Given the description of an element on the screen output the (x, y) to click on. 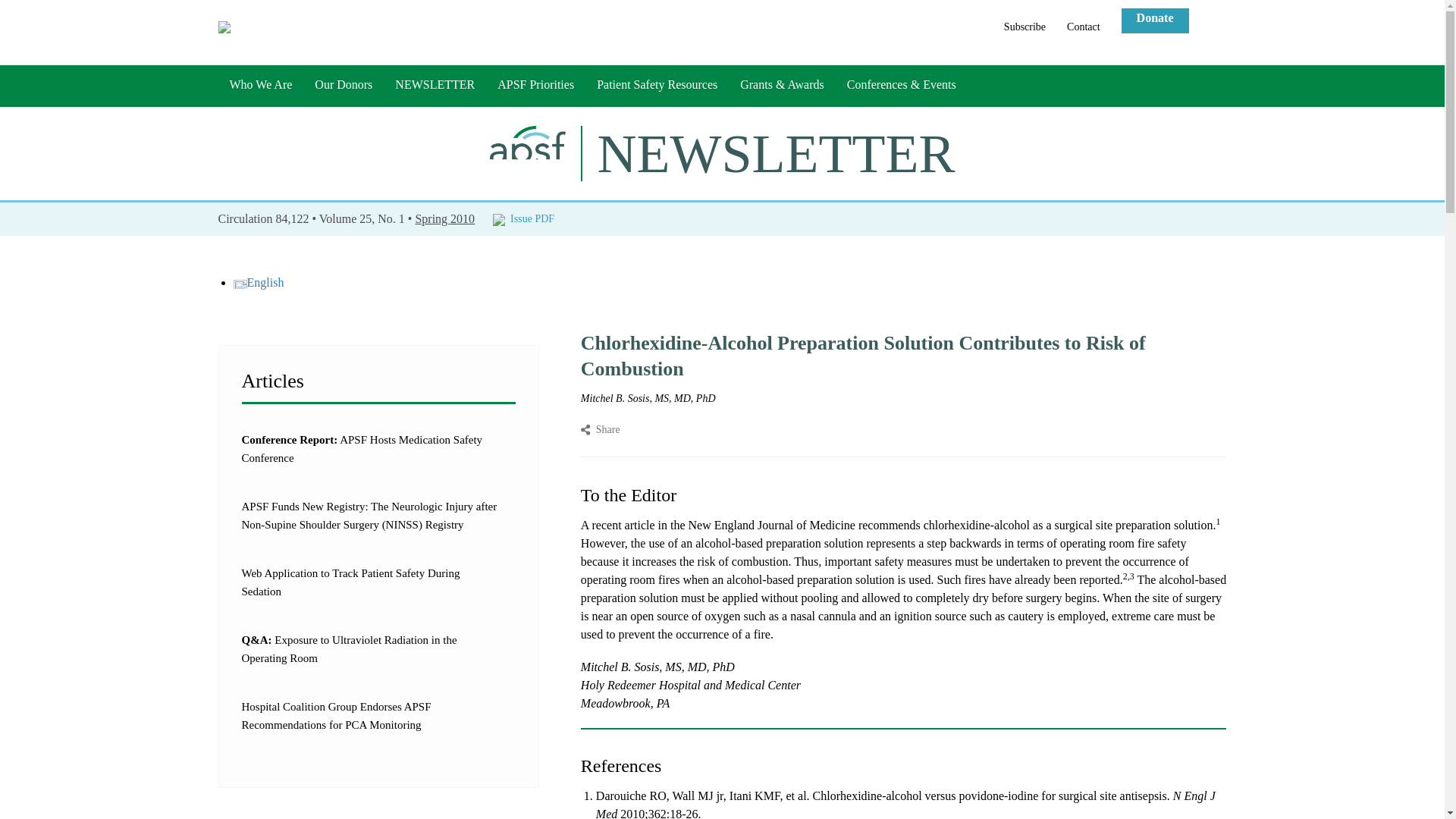
Our Donors (343, 86)
Subscribe (1024, 23)
Who We Are (261, 86)
Contact (1082, 23)
Donate (1155, 20)
